Given the description of an element on the screen output the (x, y) to click on. 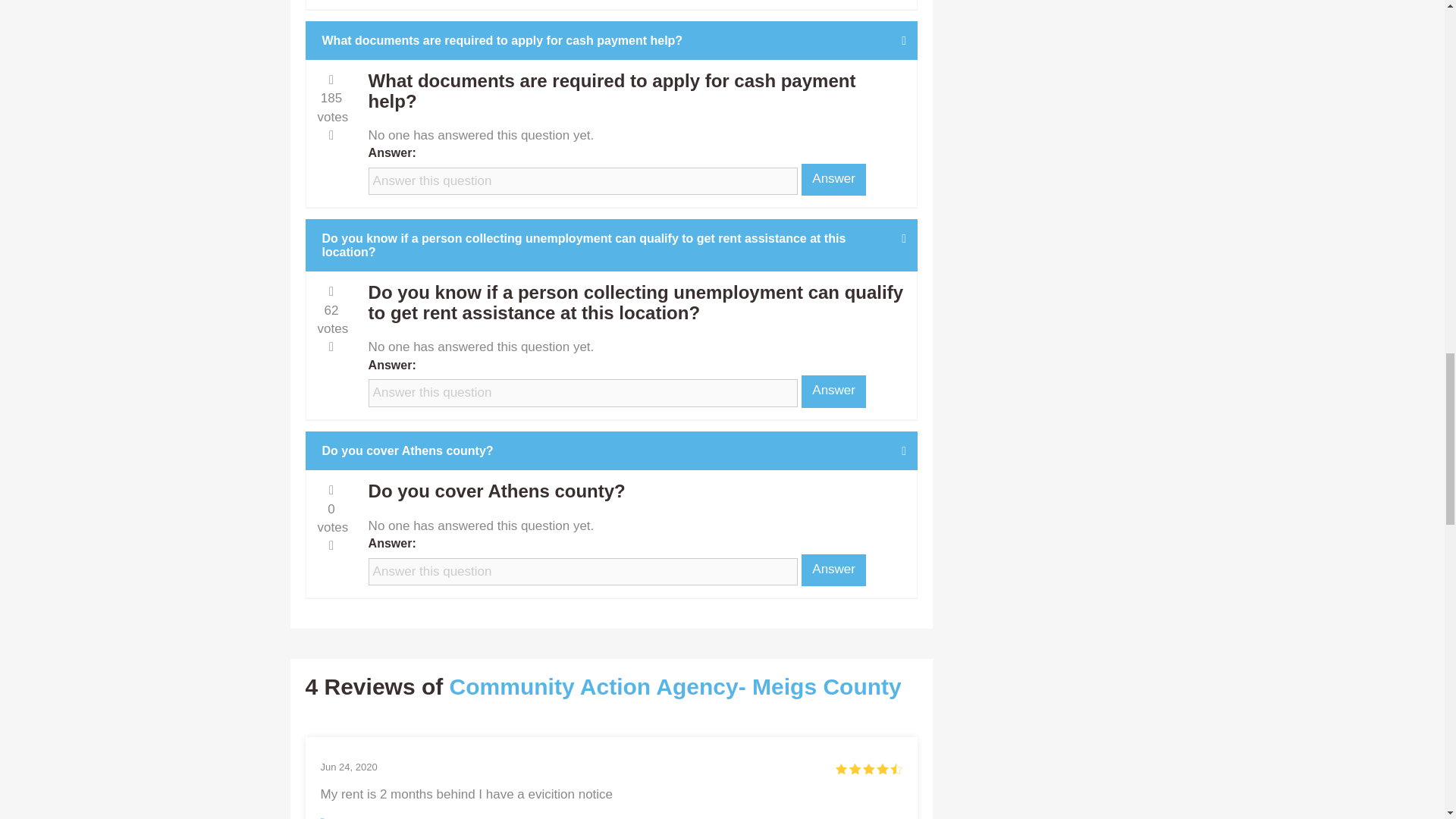
Share Now: (580, 818)
What documents are required to apply for cash payment help? (612, 40)
Answer (834, 179)
Report (444, 818)
Answer (834, 570)
Like (334, 817)
Dis-Like (387, 818)
Do you cover Athens county? (612, 450)
Comments (509, 818)
Answer (834, 391)
